Given the description of an element on the screen output the (x, y) to click on. 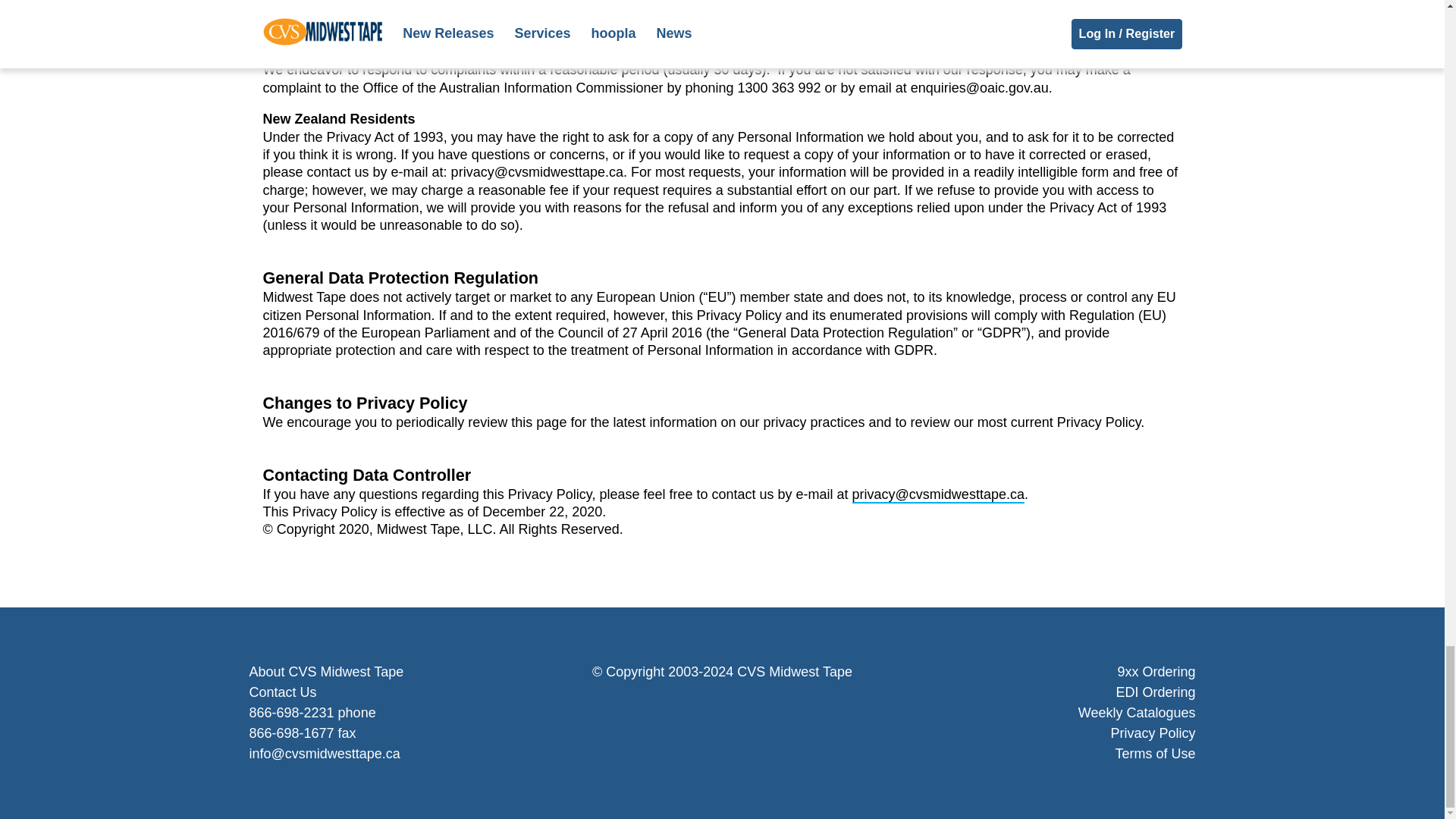
EDI Ordering (1155, 692)
Terms of Use (1155, 753)
Weekly Catalogues (1136, 712)
Follow Midwest Tape on Facebook! (687, 708)
Privacy Policy (1152, 733)
About CVS Midwest Tape (325, 671)
Contact Us (281, 692)
9xx Ordering (1155, 671)
